Given the description of an element on the screen output the (x, y) to click on. 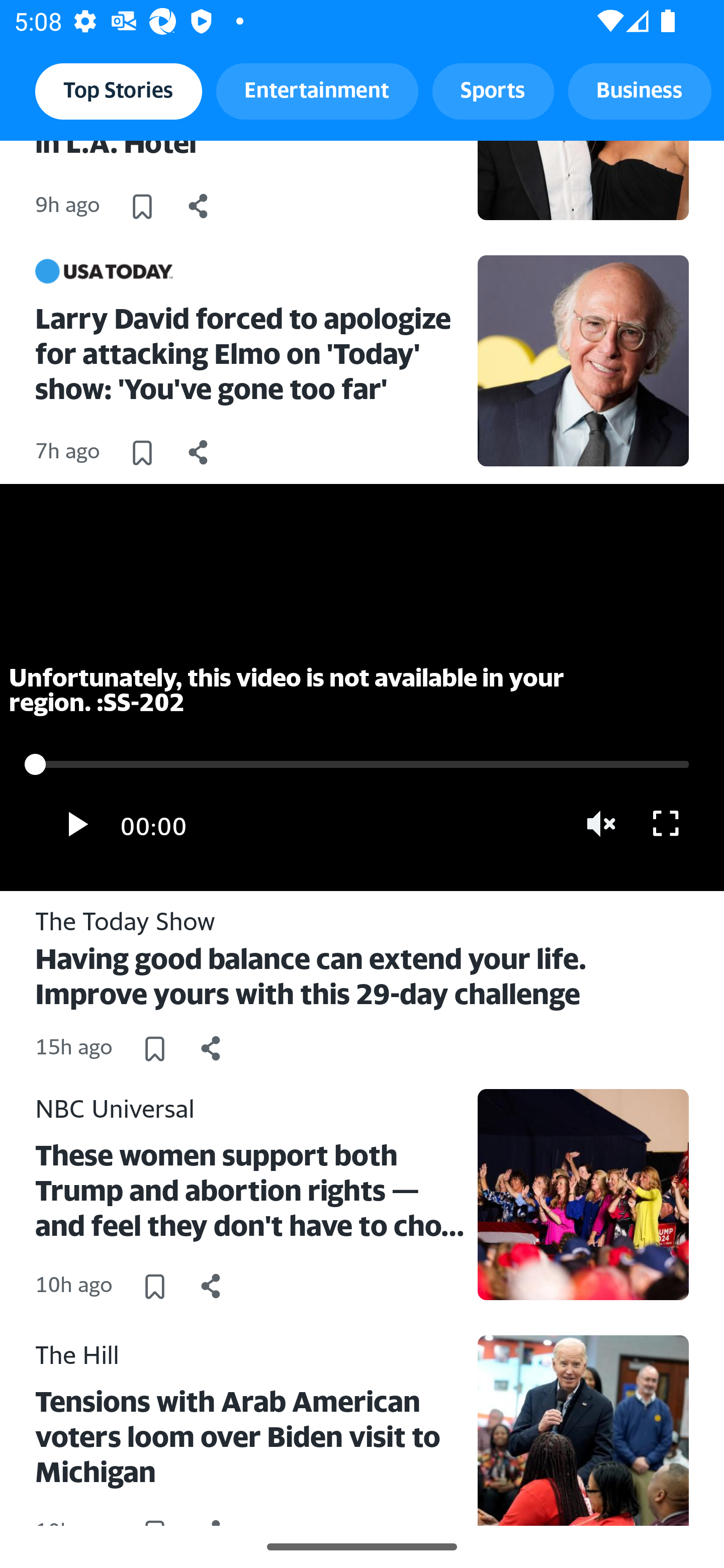
Entertainment (317, 90)
Sports (492, 90)
Business (639, 90)
Save this article (142, 205)
Share this news article (198, 205)
Save this article (142, 451)
Share this news article (198, 451)
0.0 Zero hours Zero minutes 0 seconds remaining (361, 764)
Play (75, 823)
Unmute (602, 823)
Go full screen (666, 823)
Save this article (154, 1048)
Share this news article (210, 1048)
Save this article (154, 1285)
Share this news article (210, 1285)
